Given the description of an element on the screen output the (x, y) to click on. 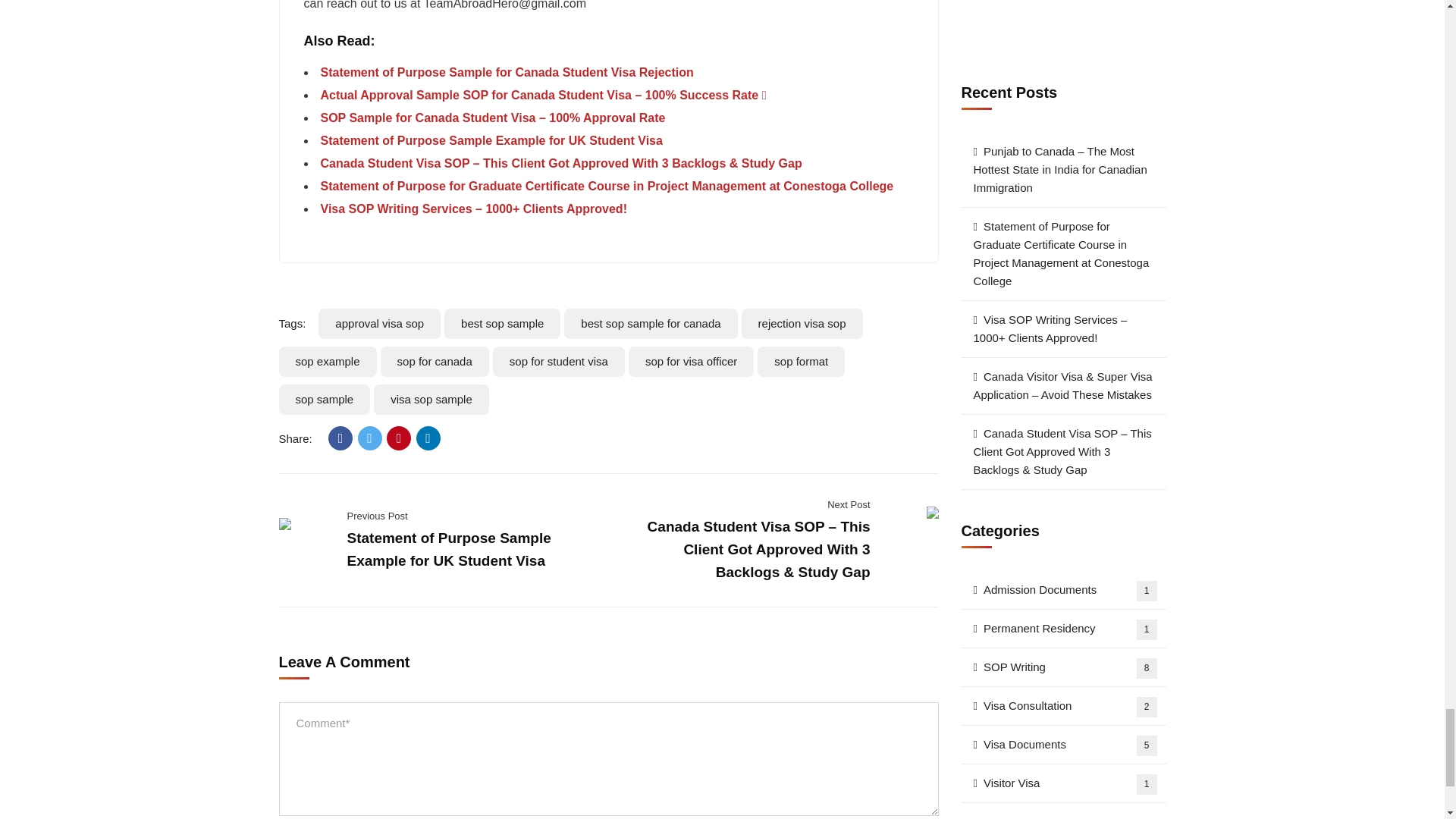
Statement of Purpose Sample Example for UK Student Visa (491, 140)
approval visa sop (379, 323)
Facebook (340, 437)
LinkedIn (428, 437)
Twitter (369, 437)
Pinterest (398, 437)
